Given the description of an element on the screen output the (x, y) to click on. 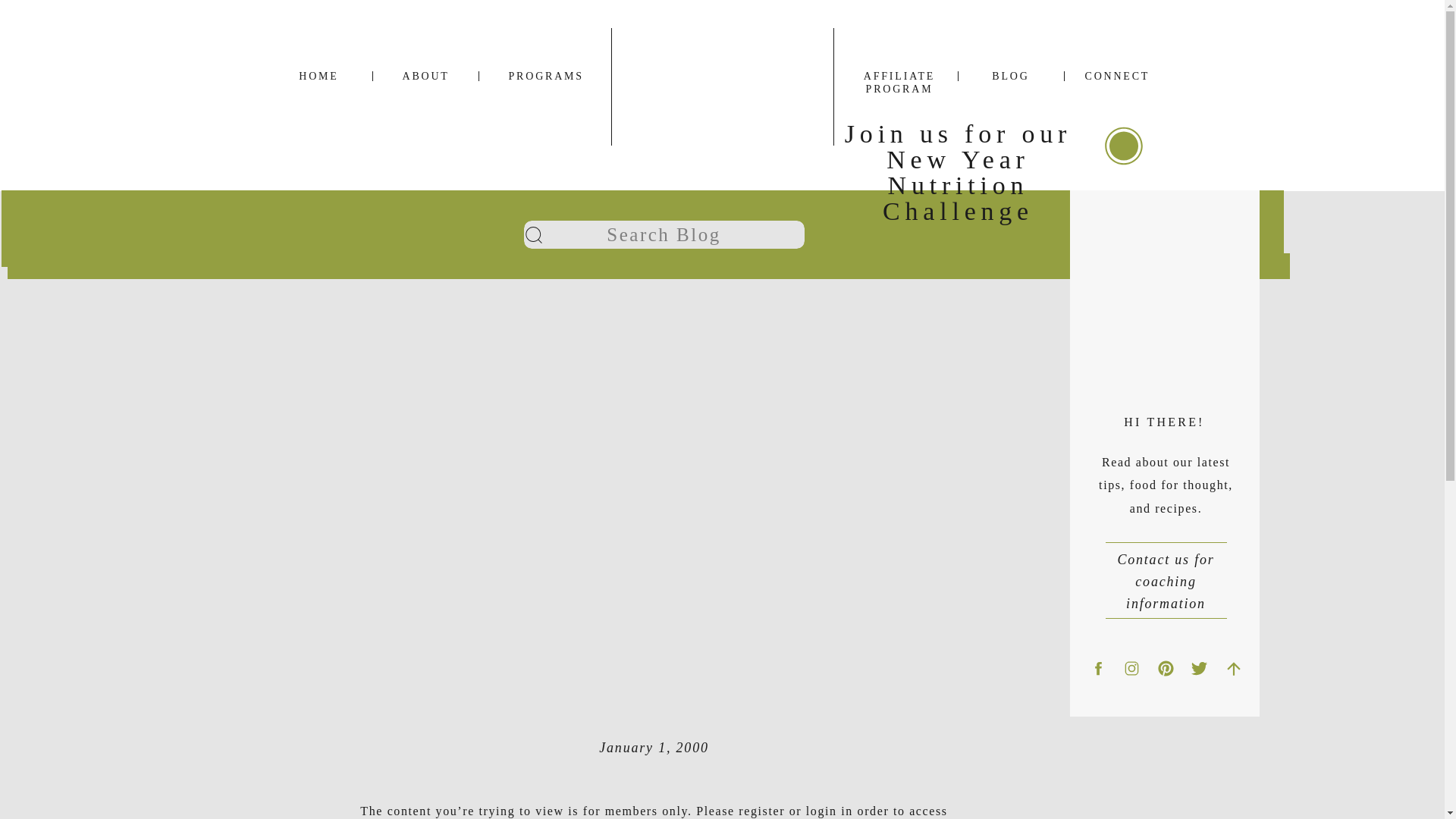
PROGRAMS (535, 75)
AFFILIATE PROGRAM (898, 75)
Contact us for coaching information (1166, 570)
ABOUT (423, 75)
BLOG (1010, 75)
HOME (317, 75)
CONNECT (1116, 75)
